Given the description of an element on the screen output the (x, y) to click on. 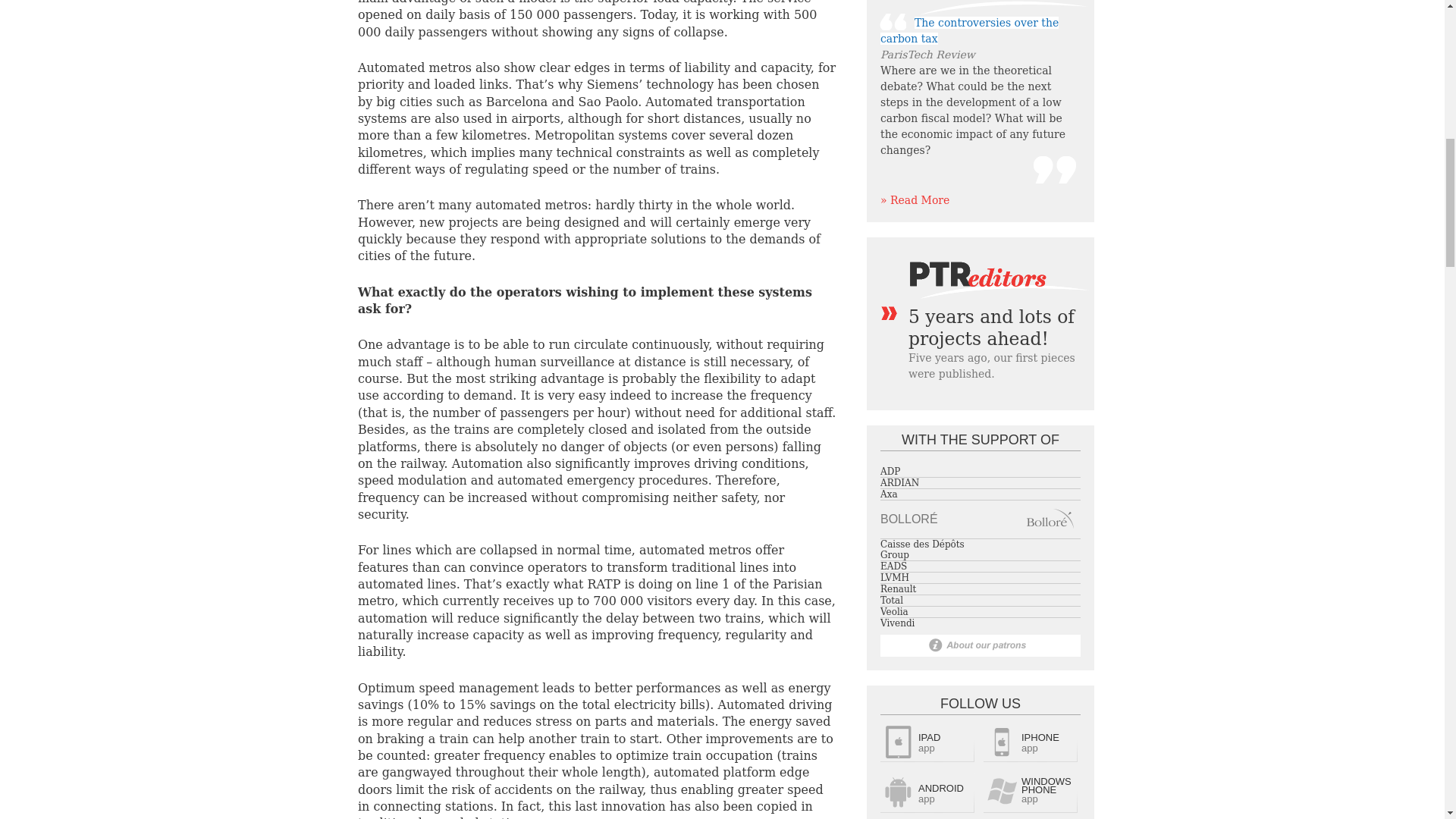
5 years and lots of projects ahead! (991, 327)
